Given the description of an element on the screen output the (x, y) to click on. 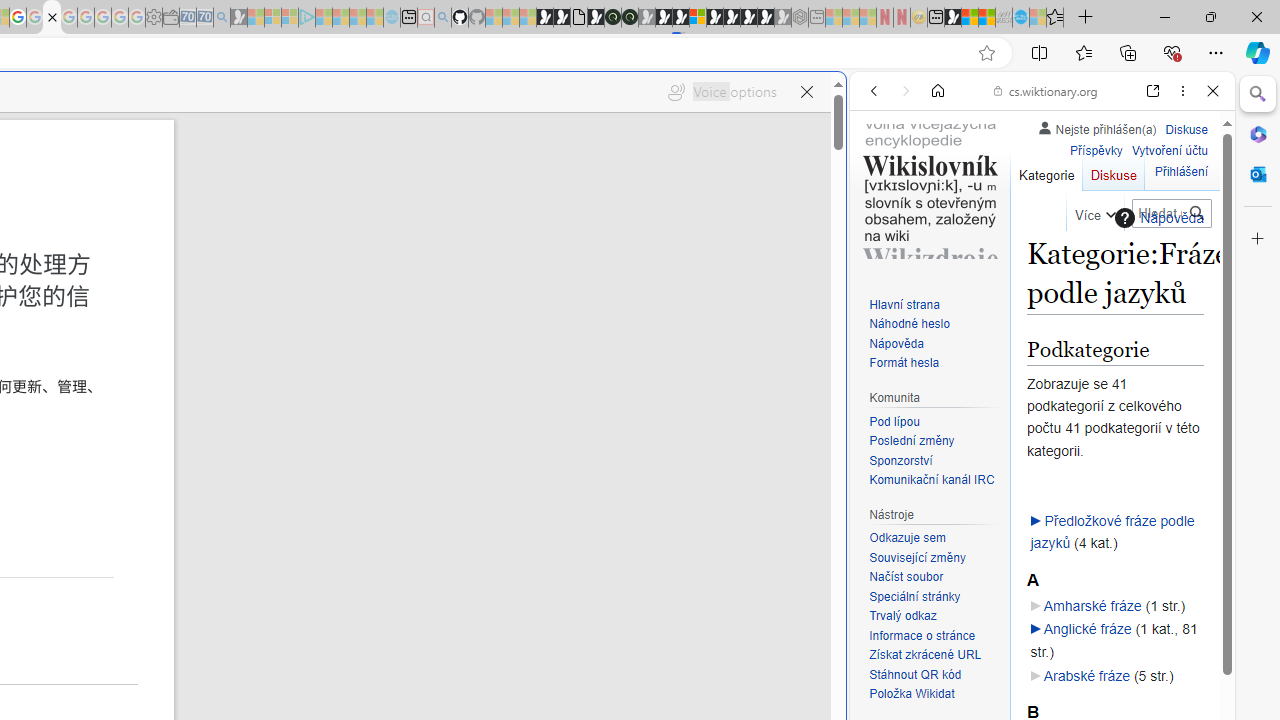
IMAGES (939, 228)
Tabs you've opened (276, 265)
New tab - Sleeping (817, 17)
Search Filter, IMAGES (939, 228)
